Given the description of an element on the screen output the (x, y) to click on. 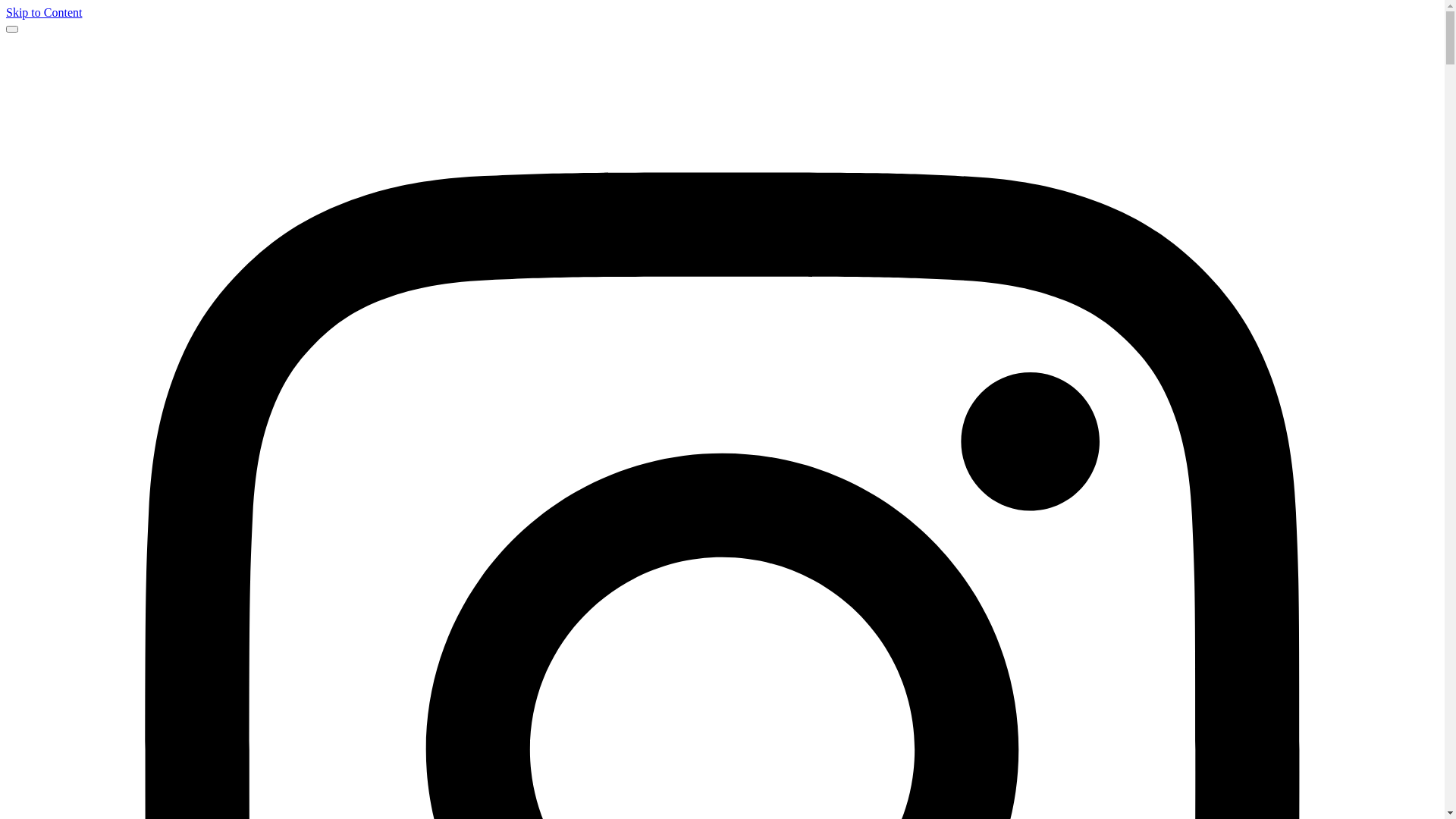
Skip to Content Element type: text (43, 12)
